Given the description of an element on the screen output the (x, y) to click on. 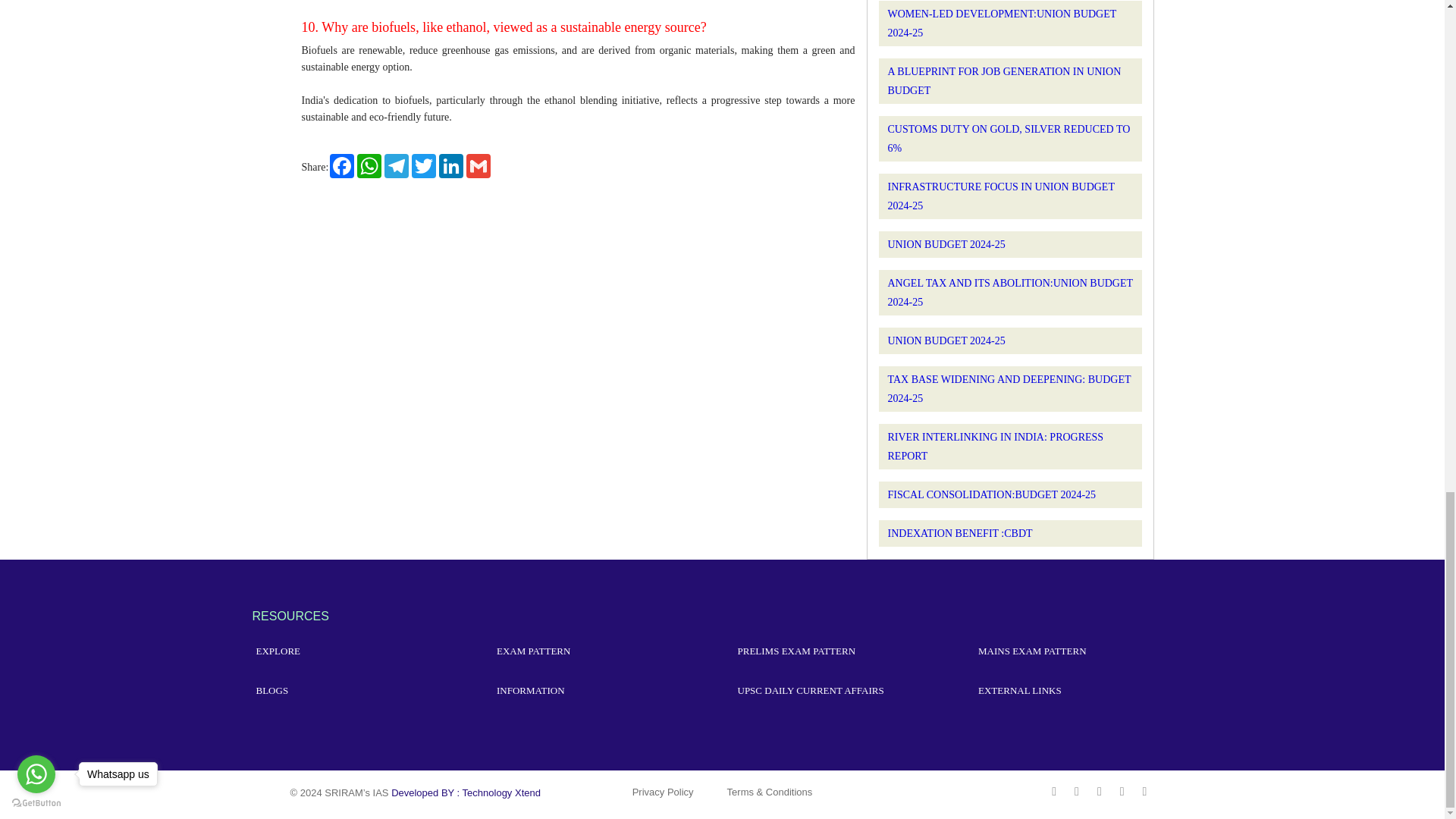
Twitter (424, 165)
UNION BUDGET 2024-25 (945, 340)
SRIRAMs IAS on Youtube (1101, 790)
FISCAL CONSOLIDATION:BUDGET 2024-25 (991, 494)
INFRASTRUCTURE FOCUS IN UNION BUDGET 2024-25 (999, 195)
UNION BUDGET 2024-25 (945, 244)
WhatsApp (368, 165)
RIVER INTERLINKING IN INDIA: PROGRESS REPORT (994, 446)
A BLUEPRINT FOR JOB GENERATION IN UNION BUDGET (1003, 81)
ANGEL TAX AND ITS ABOLITION:UNION BUDGET 2024-25 (1009, 292)
SRIRAMs IAS on Instagram (1122, 790)
Gmail (478, 165)
SRIRAMs IAS on Facebook (1055, 790)
LinkedIn (451, 165)
Facebook (342, 165)
